Given the description of an element on the screen output the (x, y) to click on. 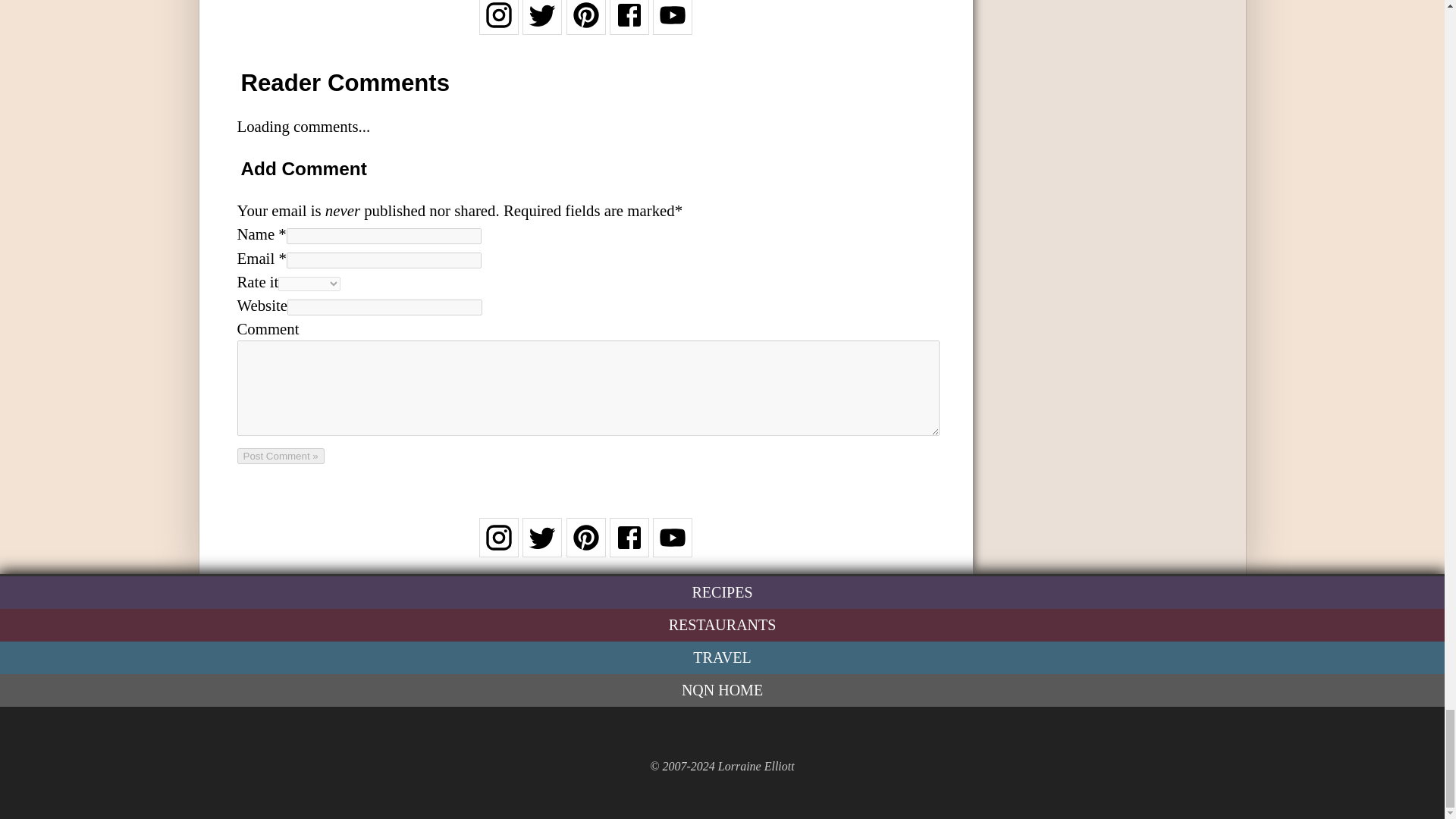
Follow on Facebook (629, 24)
Follow on Pinterest (584, 24)
Follow on Pinterest (584, 547)
Follow on YouTube (672, 547)
Follow on Facebook (629, 547)
Follow on Twitter (542, 24)
Follow on Twitter (542, 547)
Follow on YouTube (672, 24)
Follow on Instagram (498, 547)
Follow on Instagram (498, 24)
